Given the description of an element on the screen output the (x, y) to click on. 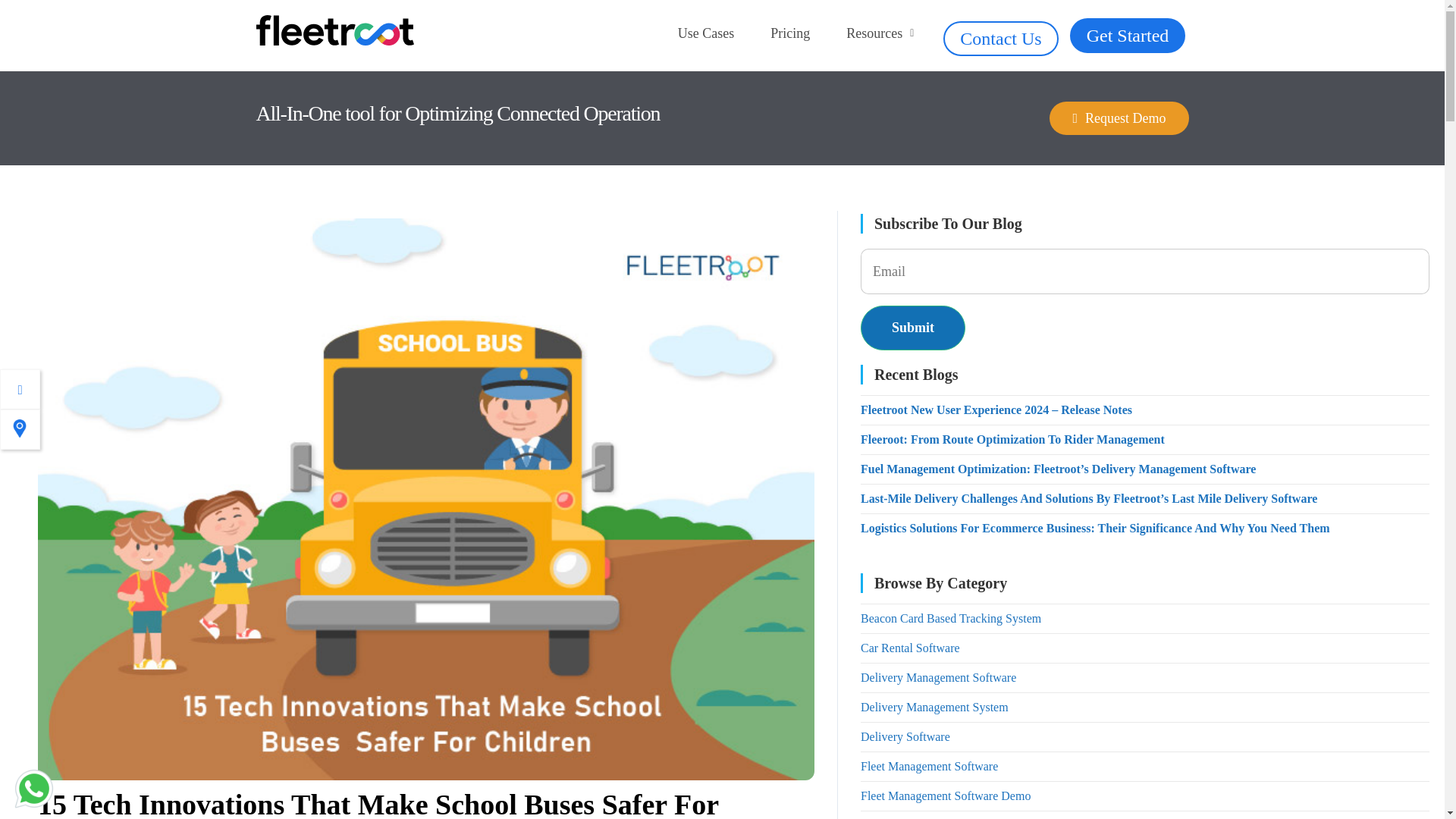
Get Started (1128, 35)
Pricing (790, 33)
Car Rental Software (909, 647)
Delivery Management Software (938, 676)
Fleeroot: From Route Optimization To Rider Management (1012, 439)
Resources (879, 33)
Use Cases (705, 33)
Contact Us (1000, 38)
Submit (912, 327)
Submit (912, 327)
Beacon Card Based Tracking System (950, 617)
Request Demo (1118, 118)
